Given the description of an element on the screen output the (x, y) to click on. 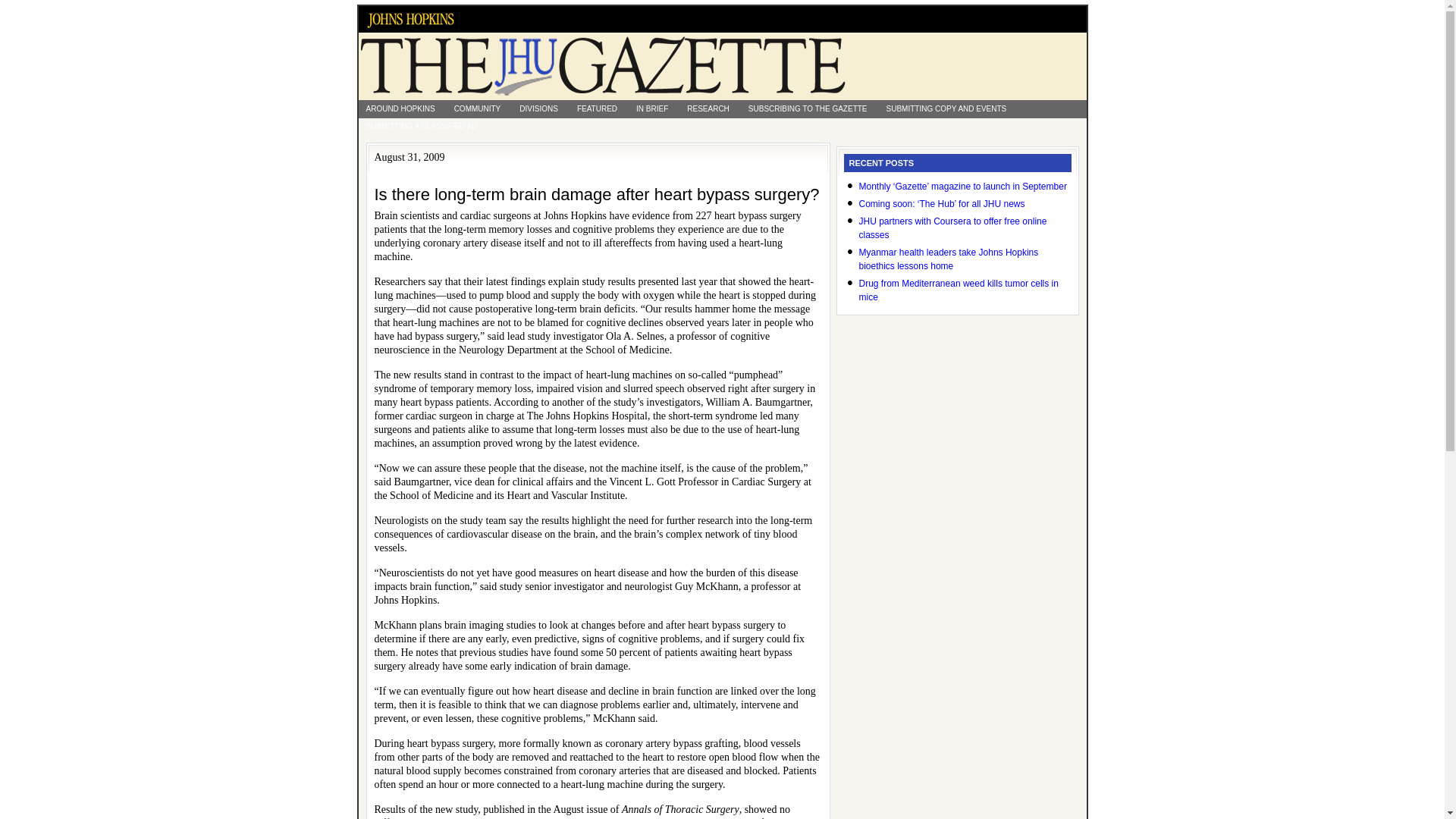
COMMUNITY (477, 108)
DIVISIONS (539, 108)
IN BRIEF (651, 108)
AROUND HOPKINS (400, 108)
FEATURED (596, 108)
RESEARCH (707, 108)
